Given the description of an element on the screen output the (x, y) to click on. 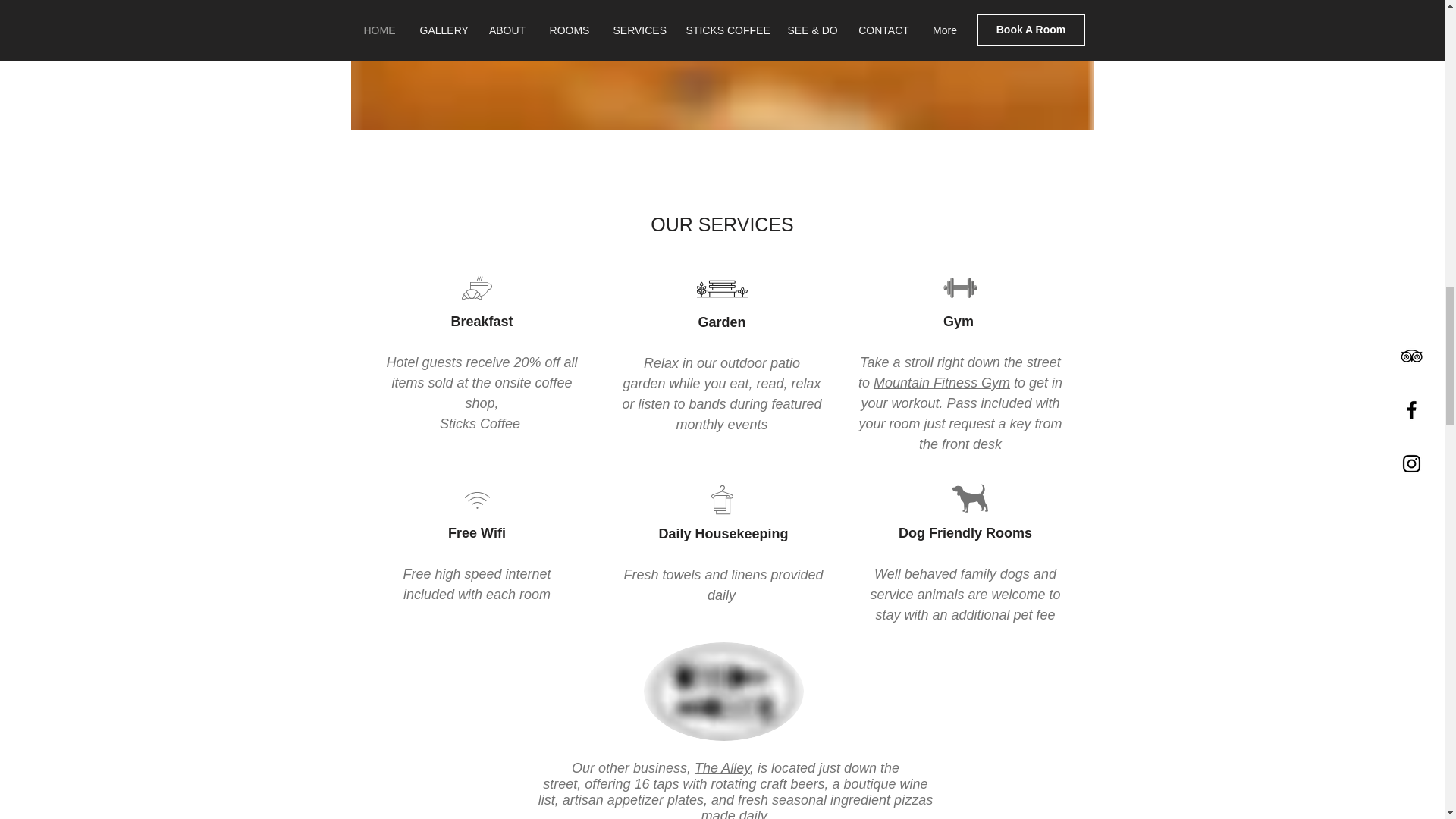
Mountain Fitness Gym (941, 382)
The Alley (721, 767)
